Given the description of an element on the screen output the (x, y) to click on. 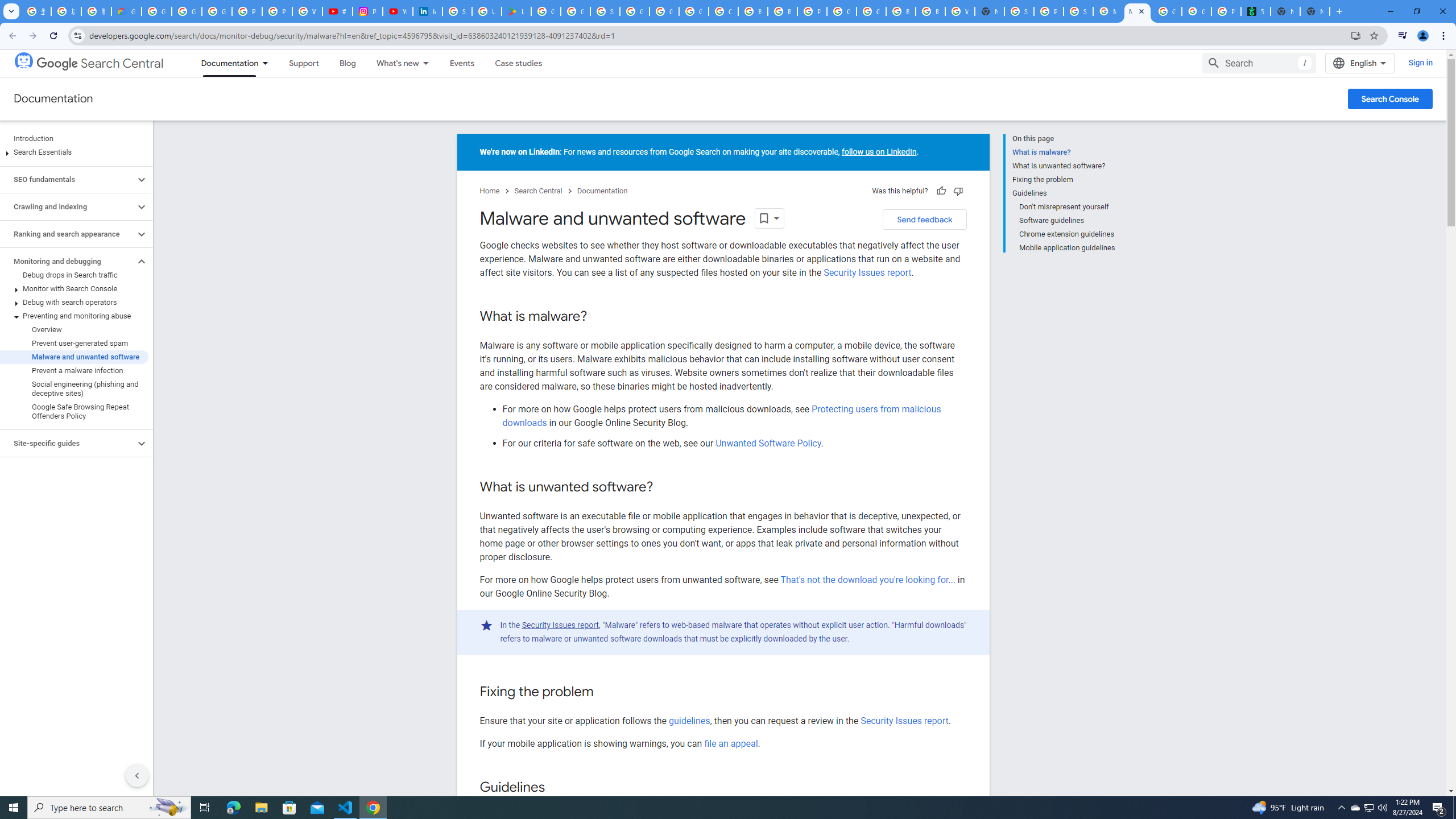
Send feedback (924, 219)
Google Cloud Platform (871, 11)
New Tab (1314, 11)
Support (303, 62)
Copy link to this section: Guidelines (555, 787)
Sign in - Google Accounts (1018, 11)
Social engineering (phishing and deceptive sites) (74, 388)
What is malware? (1063, 151)
Chrome extension guidelines (1067, 233)
